Given the description of an element on the screen output the (x, y) to click on. 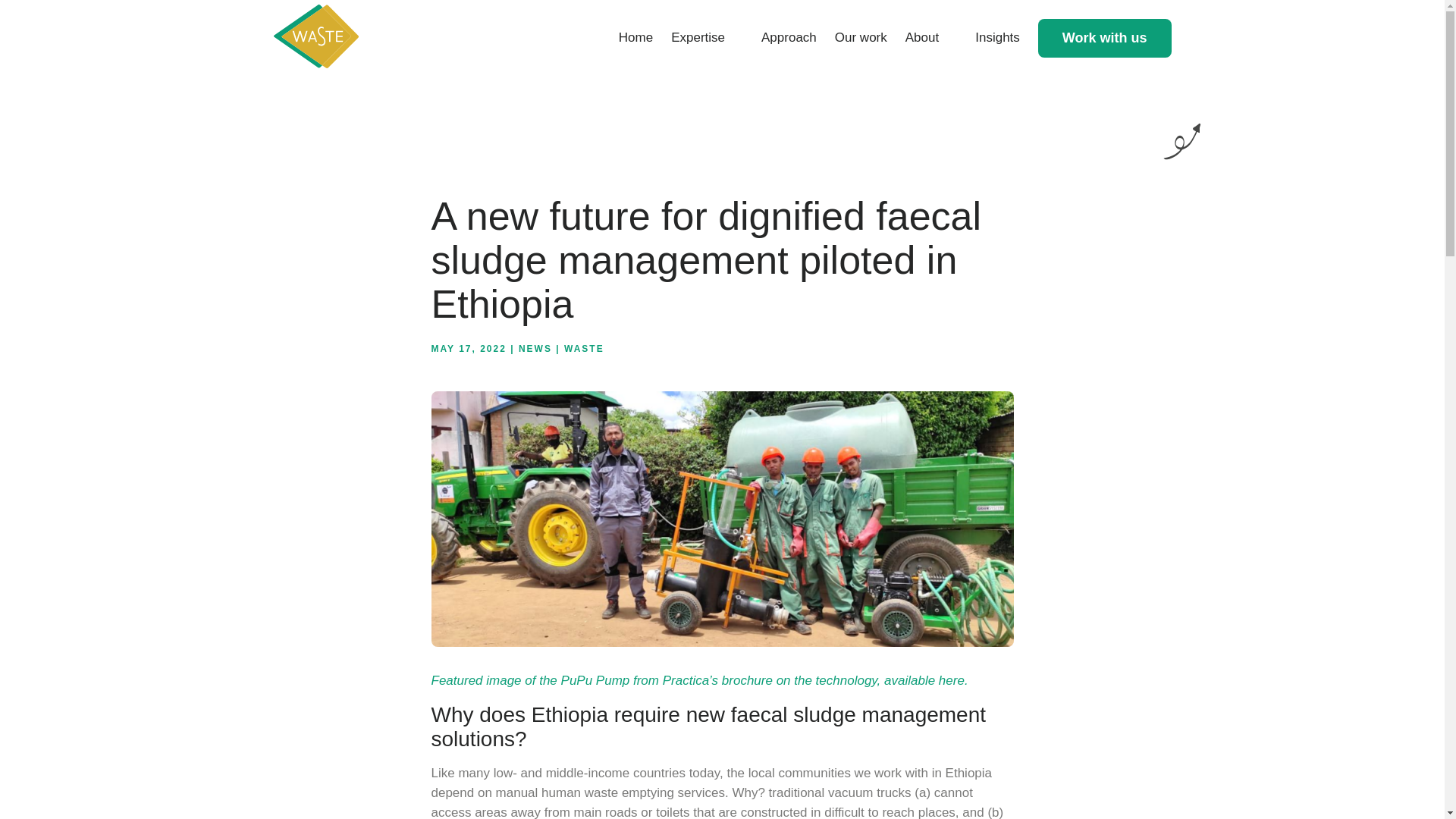
Our work (860, 37)
Approach (788, 37)
Work with us (1105, 37)
Manage options (705, 23)
Read more about these purposes (850, 23)
Home (635, 37)
Insights (997, 37)
